Given the description of an element on the screen output the (x, y) to click on. 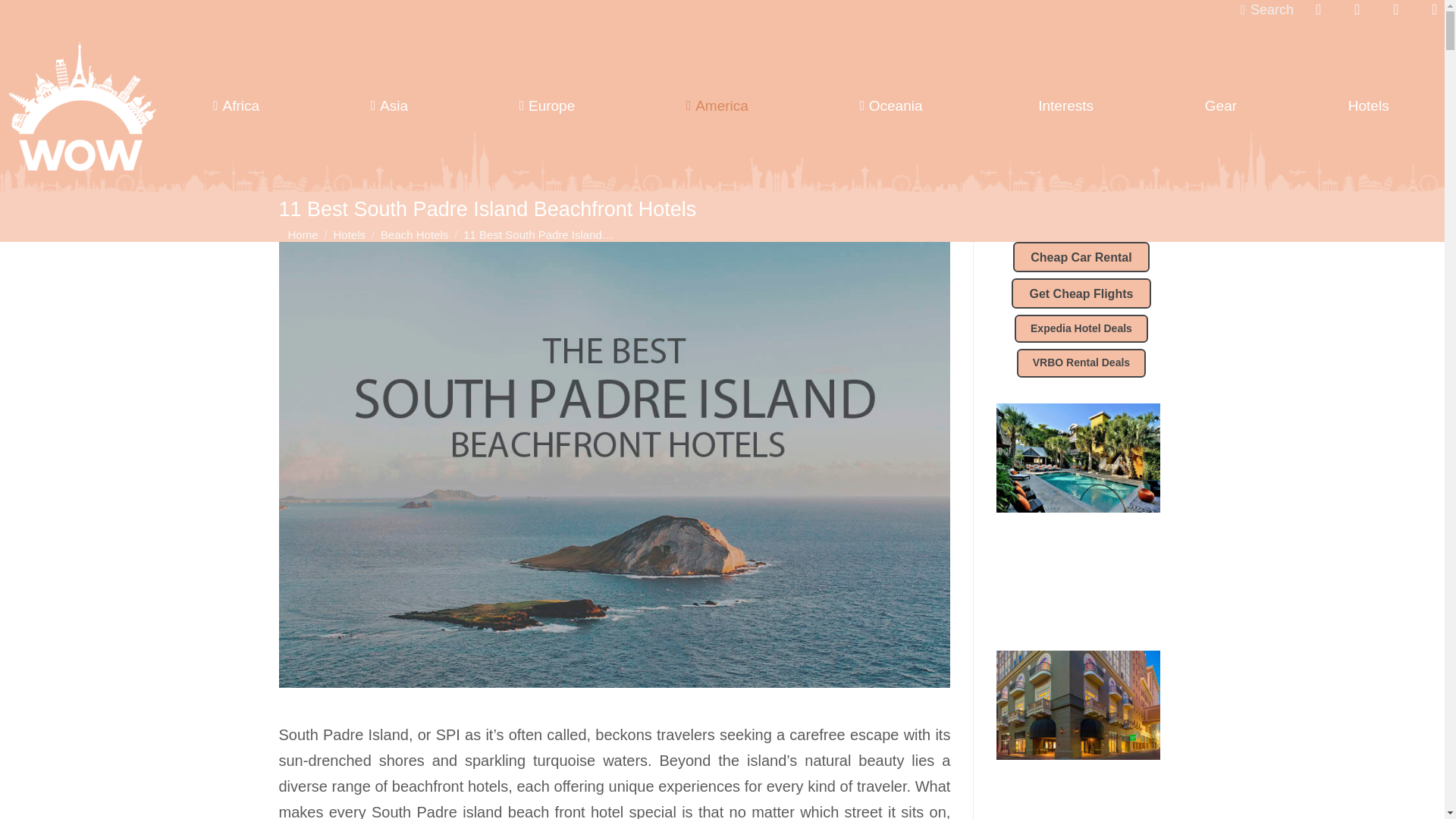
Instagram page opens in new window (1396, 9)
Facebook page opens in new window (1317, 9)
X page opens in new window (1357, 9)
Facebook page opens in new window (1317, 9)
Asia (389, 105)
Instagram page opens in new window (1396, 9)
Africa (235, 105)
X page opens in new window (1357, 9)
Search (1267, 9)
Go! (23, 15)
